Given the description of an element on the screen output the (x, y) to click on. 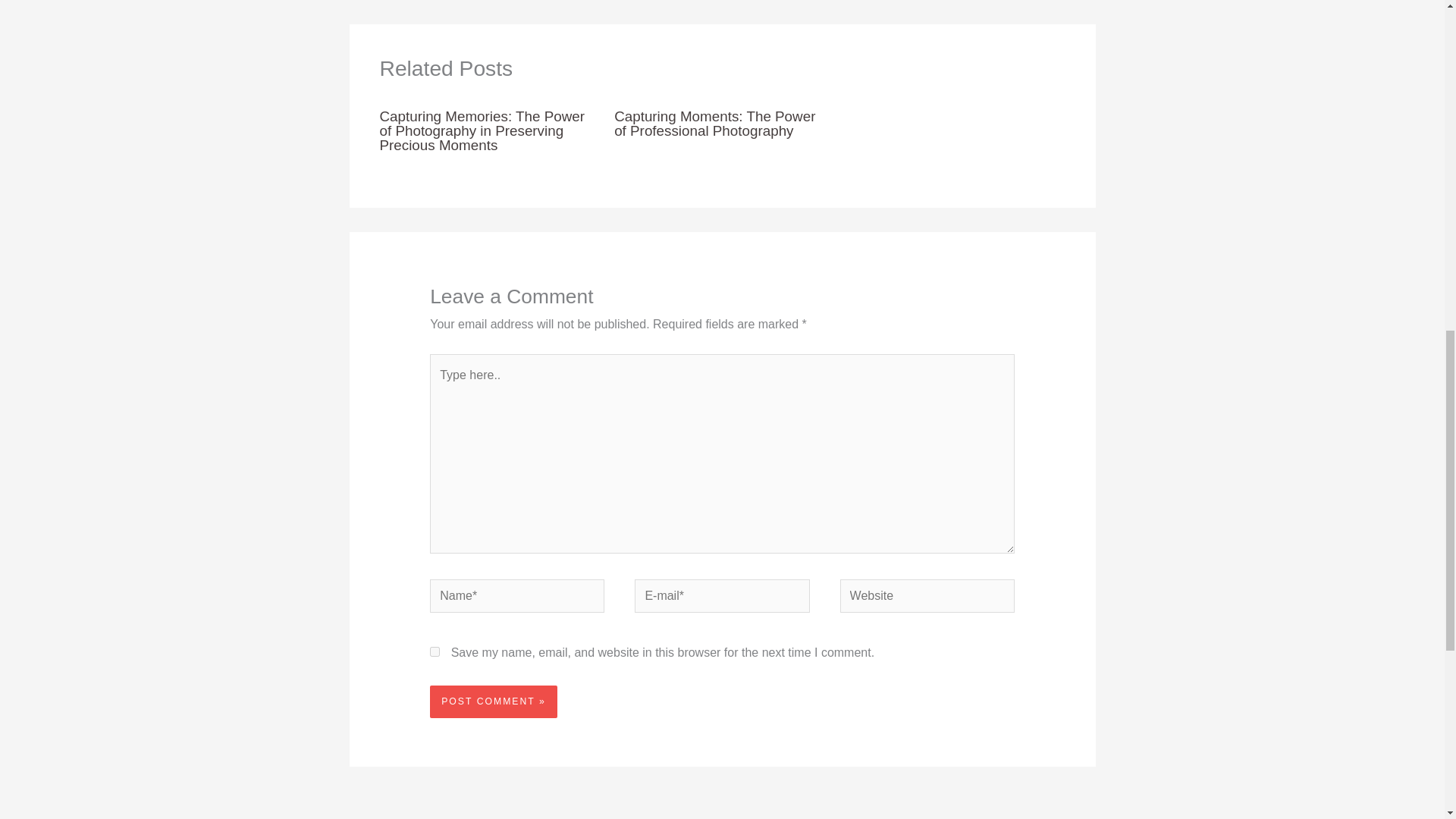
Capturing Moments: The Power of Professional Photography (714, 123)
yes (434, 651)
